Given the description of an element on the screen output the (x, y) to click on. 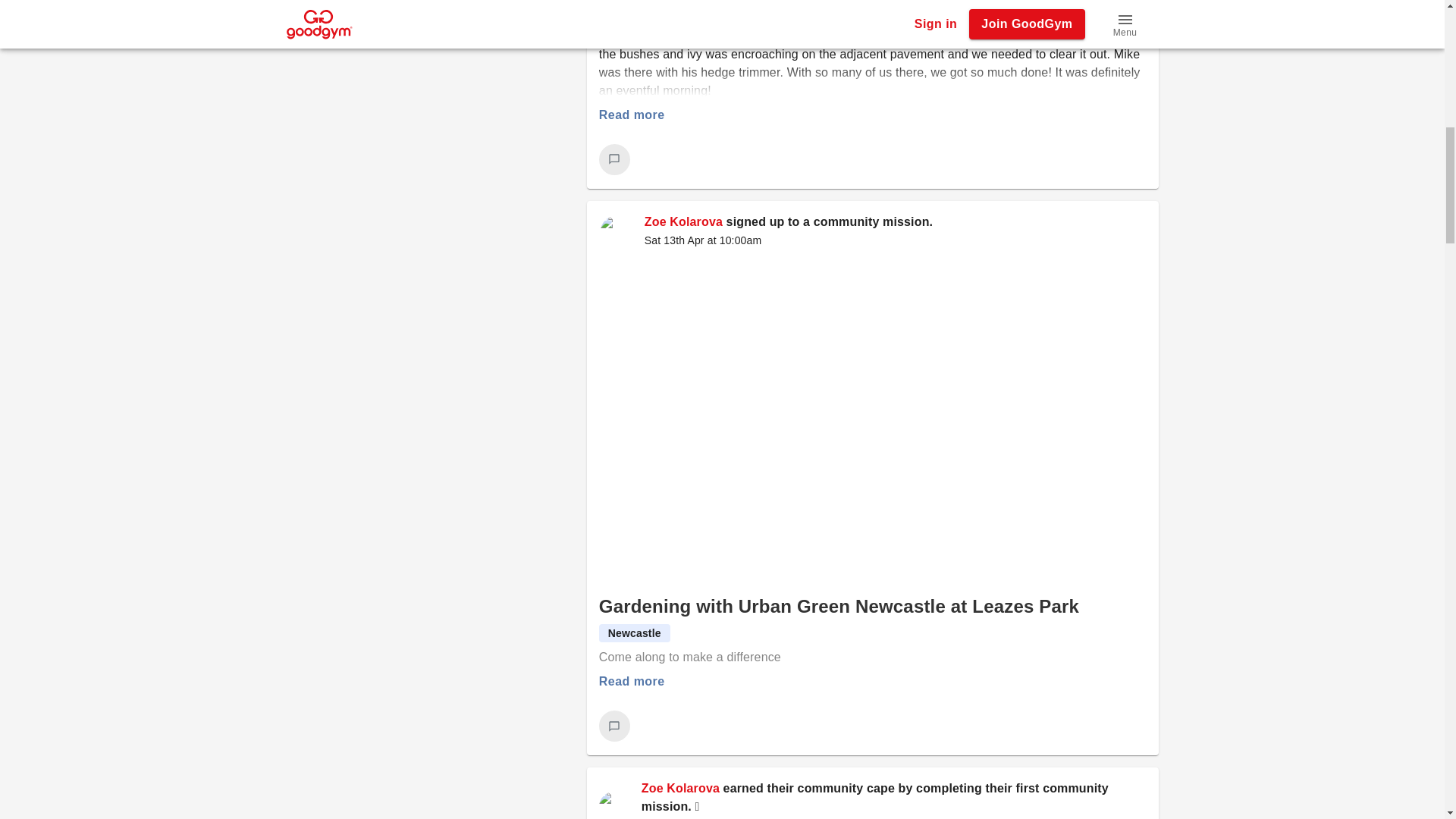
Zoe Kolarova (680, 788)
Read more (631, 681)
Block (300, 17)
Read more (631, 114)
report (349, 17)
Newcastle (633, 633)
Zoe Kolarova (683, 221)
Gardening with Urban Green Newcastle at Leazes Park (838, 606)
